Given the description of an element on the screen output the (x, y) to click on. 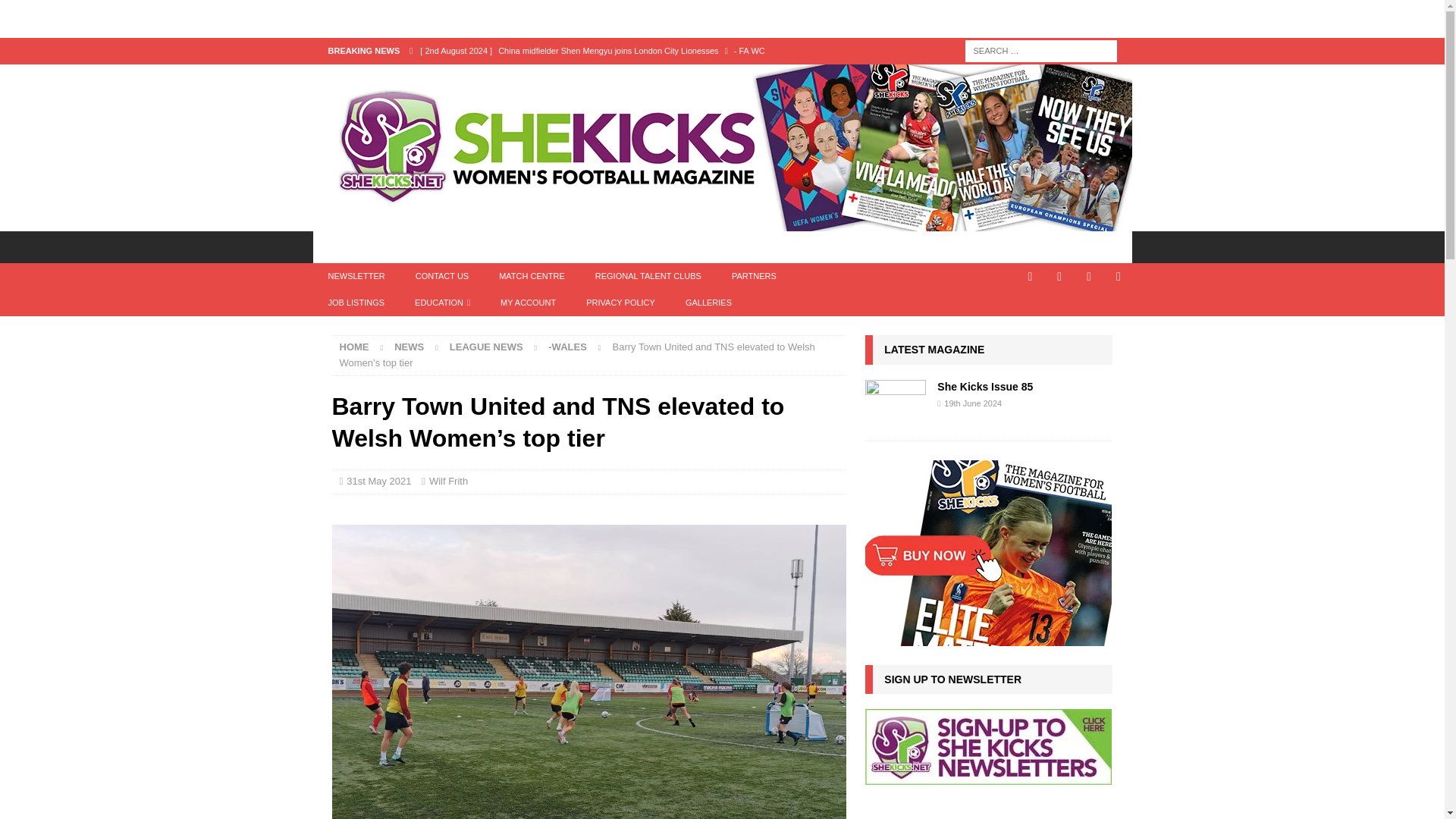
LEAGUE NEWS (485, 346)
Genero Adran Premier champions start season at Wrexham Women (627, 76)
MATCH CENTRE (531, 275)
EDUCATION (441, 302)
SHOP (793, 246)
PARTNERS (754, 275)
BACK ISSUES (707, 246)
BLOGS (472, 246)
NEWS (408, 346)
China midfielder Shen Mengyu joins London City Lionesses (627, 50)
HOME (354, 346)
Home (354, 346)
MY ACCOUNT (527, 302)
Search (56, 11)
SHEKICKS MAGAZINE (579, 246)
